Given the description of an element on the screen output the (x, y) to click on. 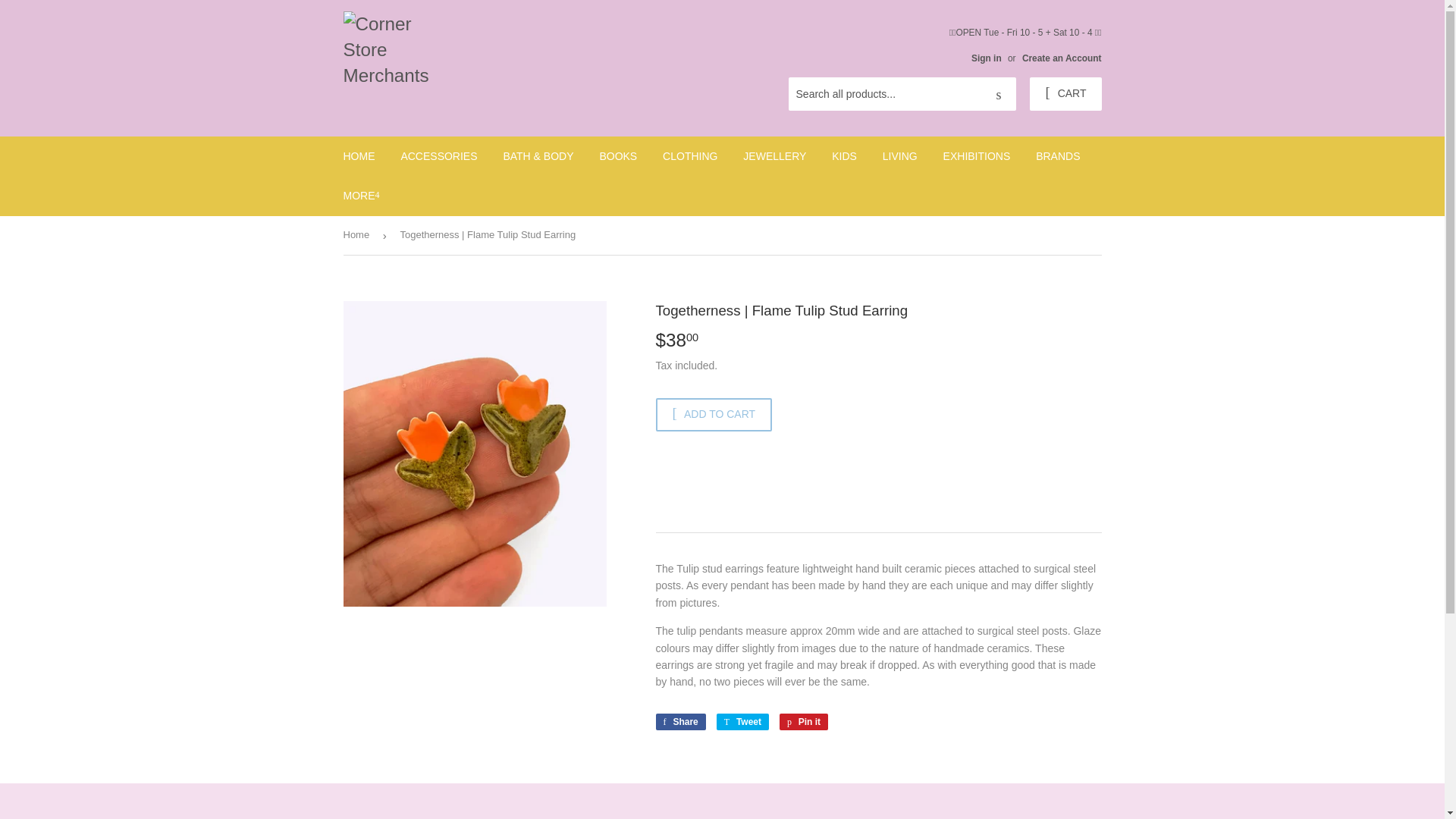
BRANDS (1057, 156)
LIVING (899, 156)
HOME (359, 156)
EXHIBITIONS (976, 156)
Share on Facebook (679, 721)
BOOKS (617, 156)
CLOTHING (689, 156)
JEWELLERY (774, 156)
MORE (361, 195)
Search (998, 94)
ACCESSORIES (437, 156)
Sign in (986, 58)
Create an Account (1062, 58)
Pin on Pinterest (803, 721)
CART (1064, 93)
